Given the description of an element on the screen output the (x, y) to click on. 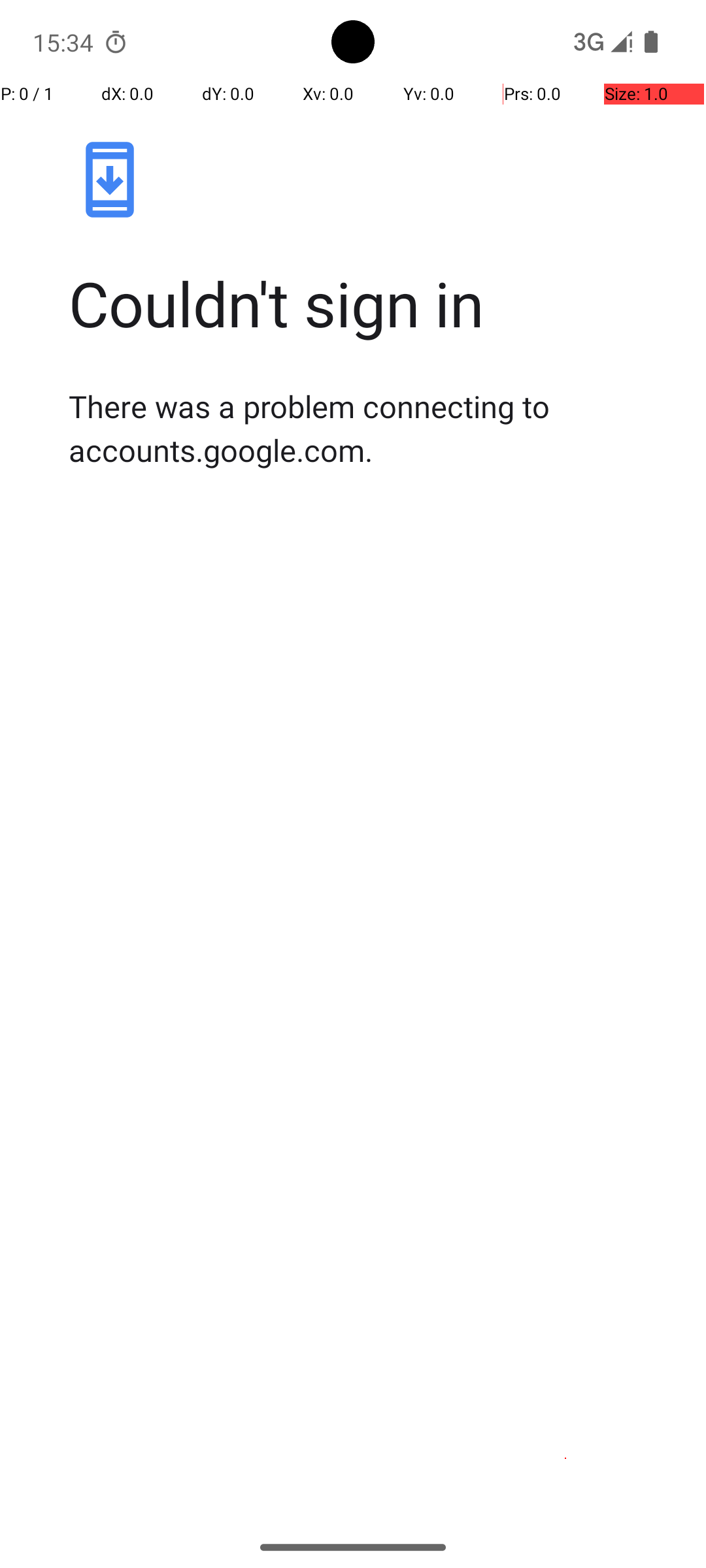
Couldn't sign in Element type: android.widget.TextView (366, 302)
There was a problem connecting to accounts.google.com. Element type: android.widget.TextView (366, 427)
